Given the description of an element on the screen output the (x, y) to click on. 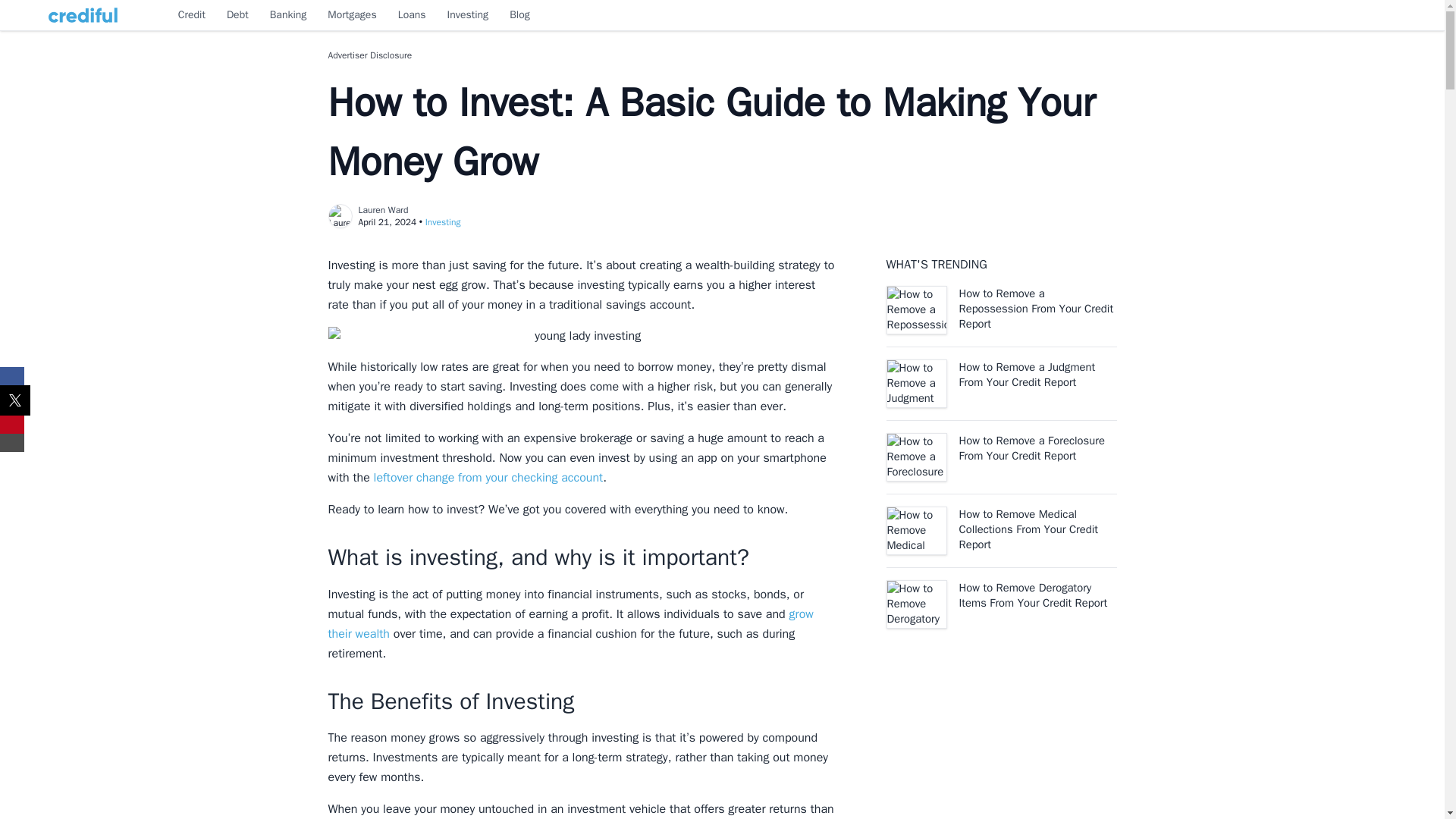
Banking (288, 15)
Credit (191, 15)
Debt (237, 15)
